Given the description of an element on the screen output the (x, y) to click on. 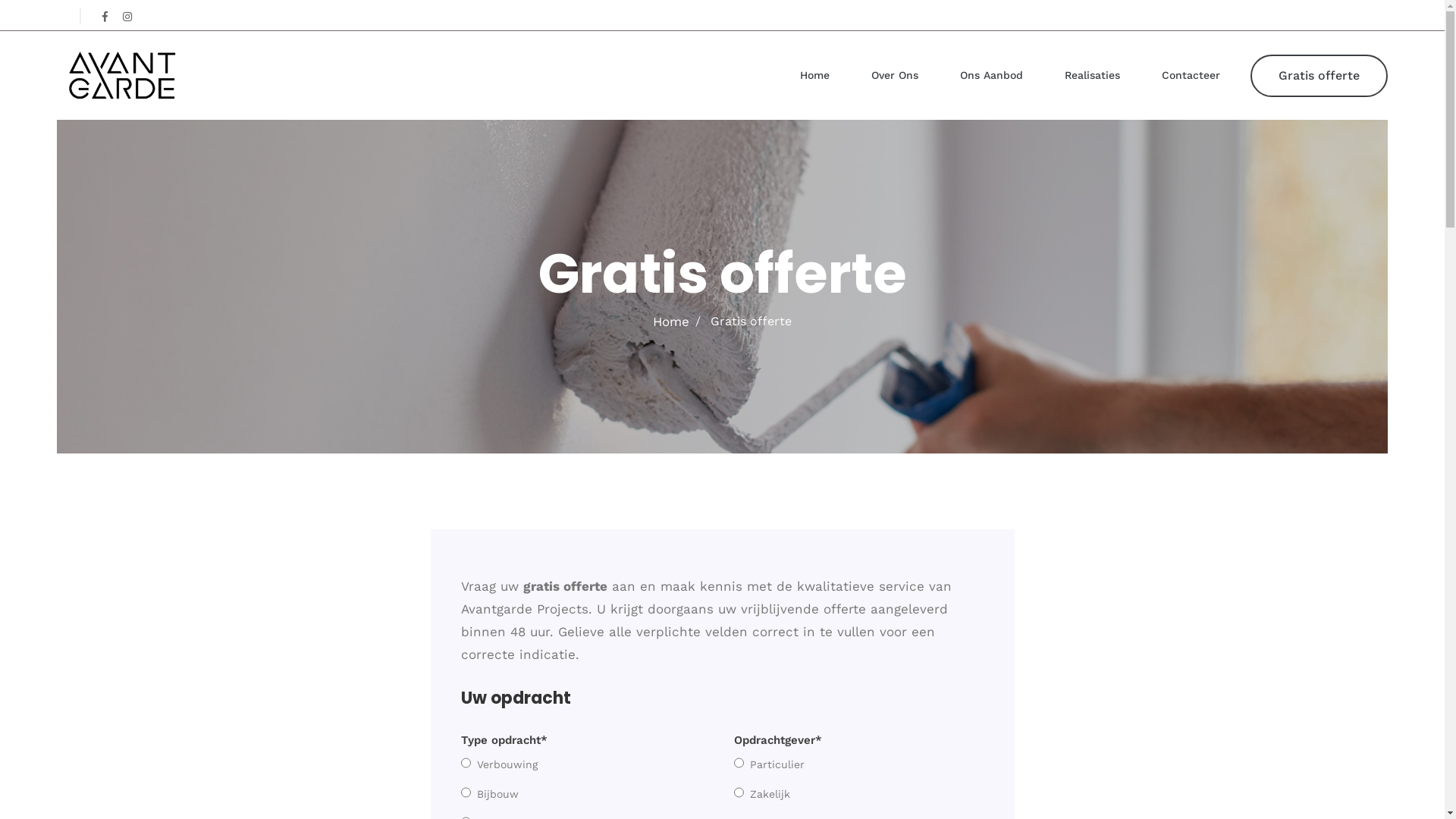
Over Ons Element type: text (894, 75)
Contacteer Element type: text (1190, 75)
Gratis offerte Element type: text (1318, 75)
Realisaties Element type: text (1092, 75)
Home Element type: text (670, 321)
Ons Aanbod Element type: text (991, 75)
Home Element type: text (814, 75)
